Given the description of an element on the screen output the (x, y) to click on. 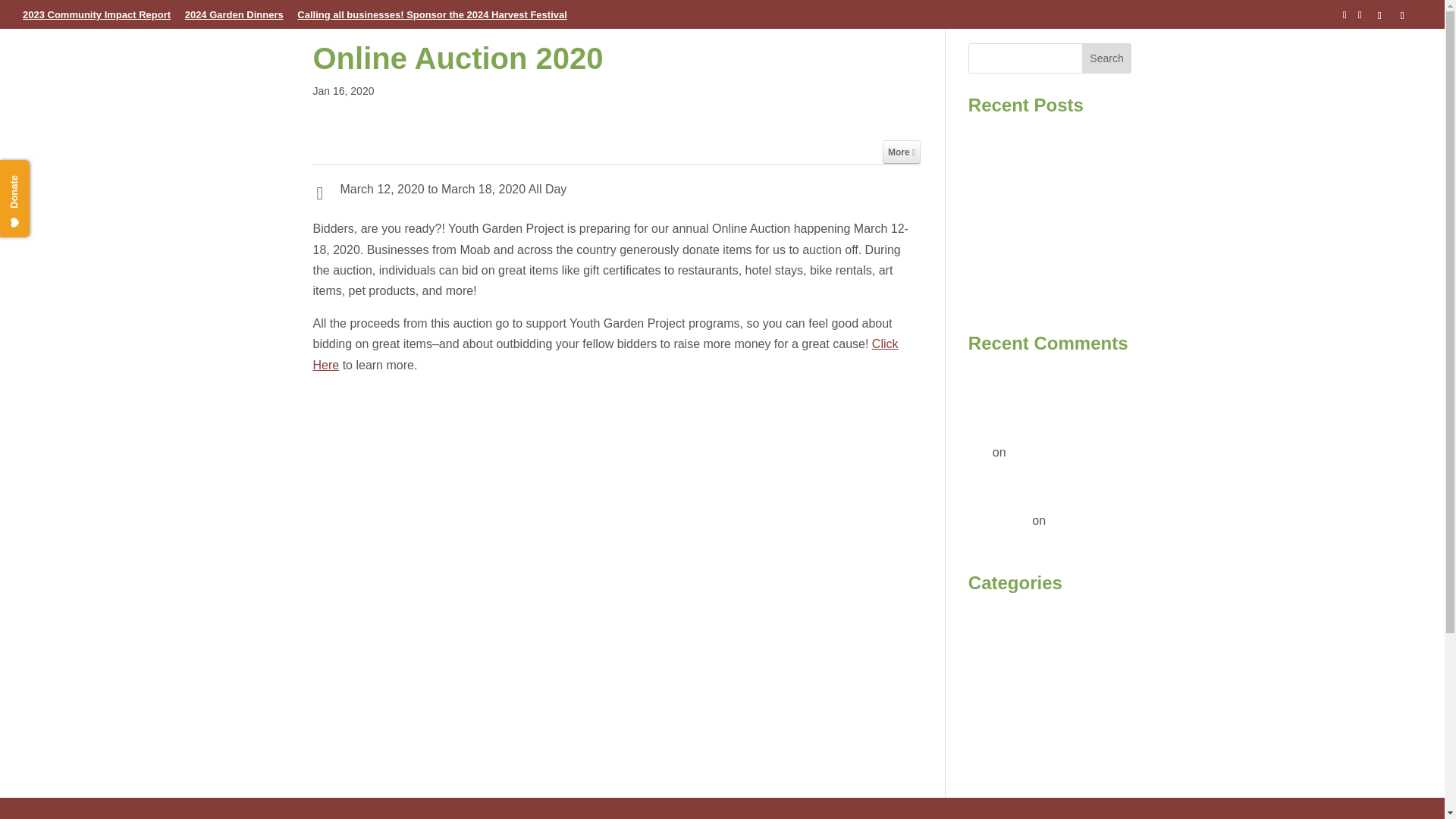
Search (1106, 58)
2024 Garden Dinners (233, 18)
Calling all businesses! Sponsor the 2024 Harvest Festival (431, 18)
2023 Community Impact Report (96, 18)
Persistent Donate Button (41, 174)
